Given the description of an element on the screen output the (x, y) to click on. 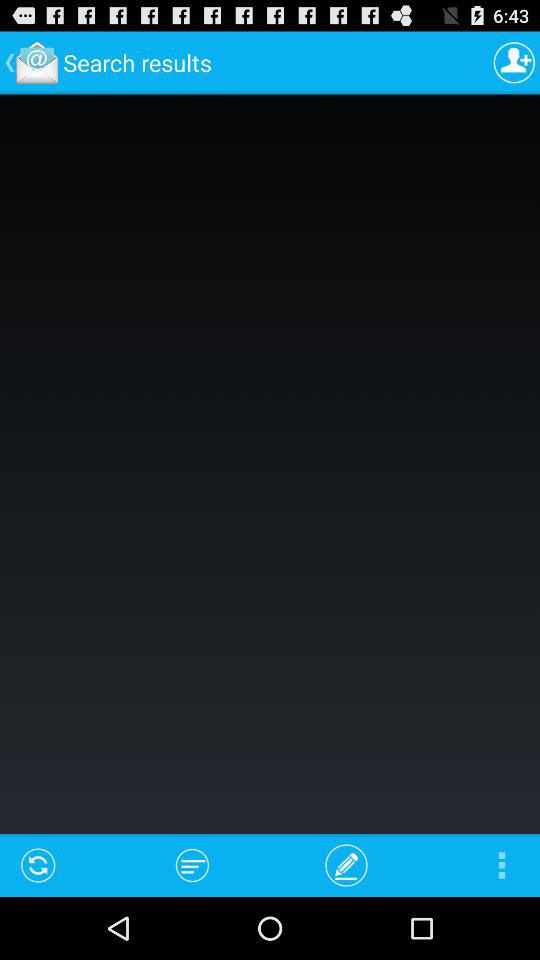
profile page (514, 62)
